Given the description of an element on the screen output the (x, y) to click on. 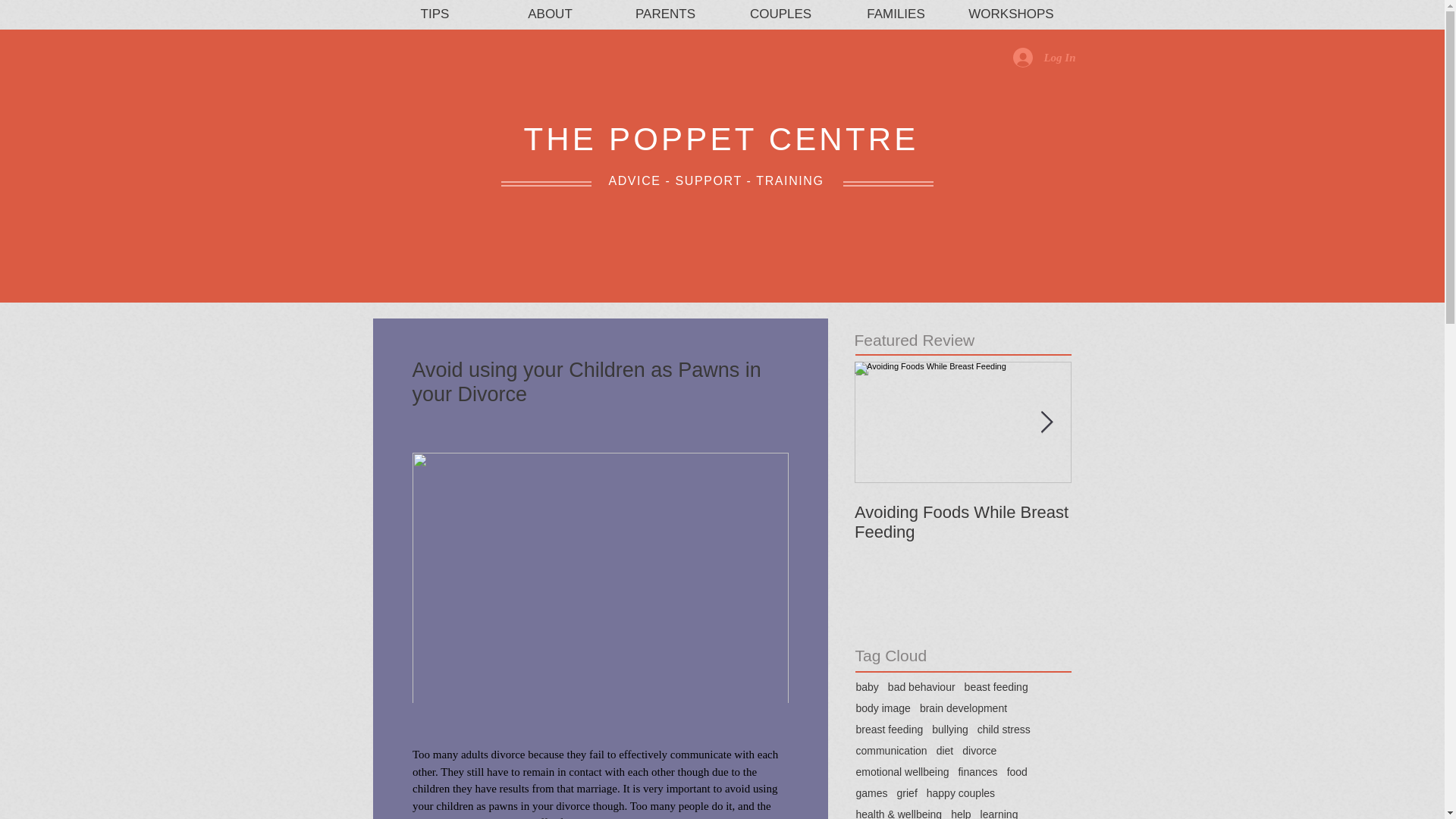
WORKSHOPS (1010, 14)
PARENTS (665, 14)
FAMILIES (895, 14)
Log In (1044, 57)
ABOUT (550, 14)
TIPS (435, 14)
COUPLES (780, 14)
THE POPPET CENTRE (720, 139)
